Given the description of an element on the screen output the (x, y) to click on. 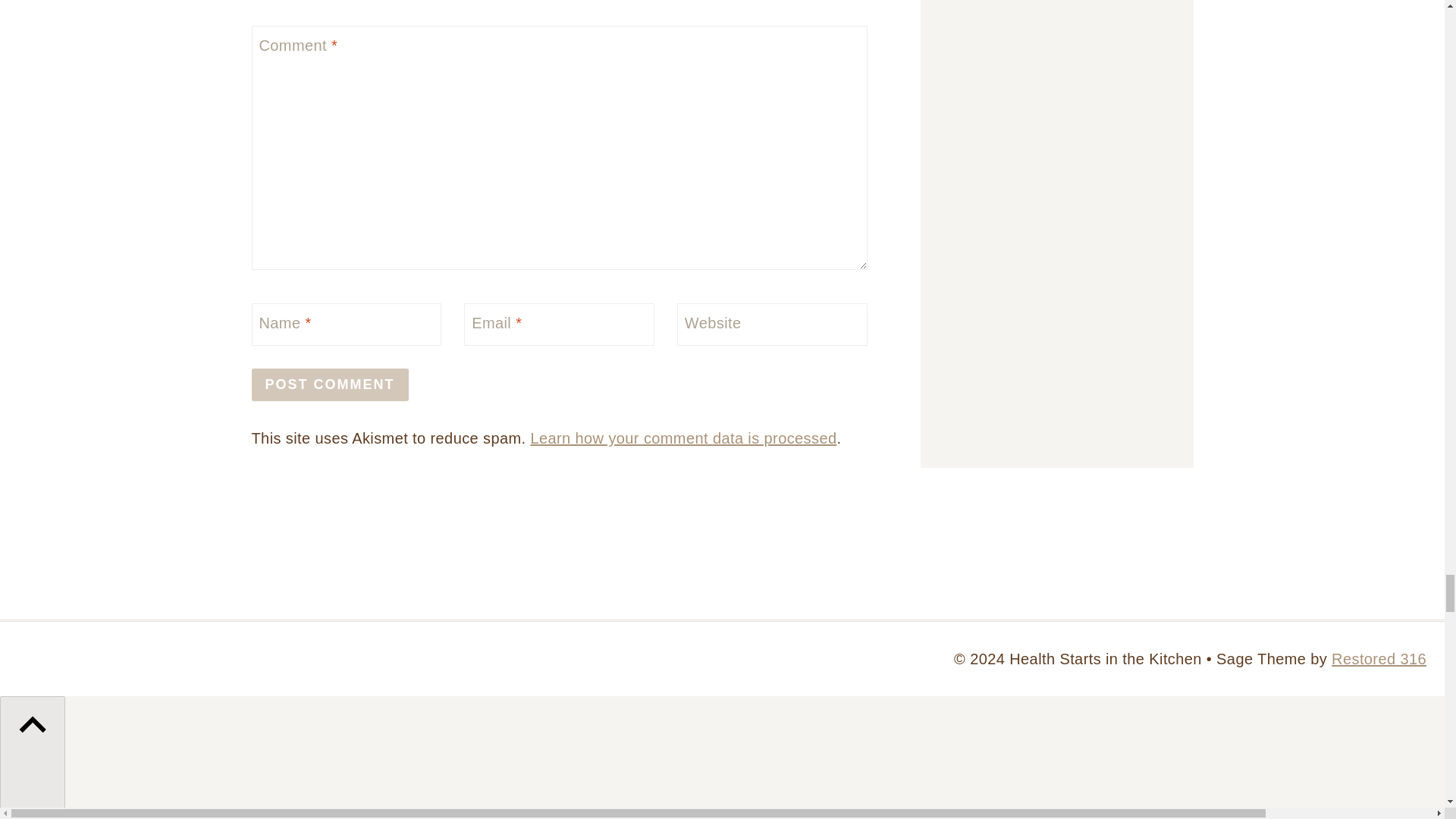
Post Comment (330, 384)
